Given the description of an element on the screen output the (x, y) to click on. 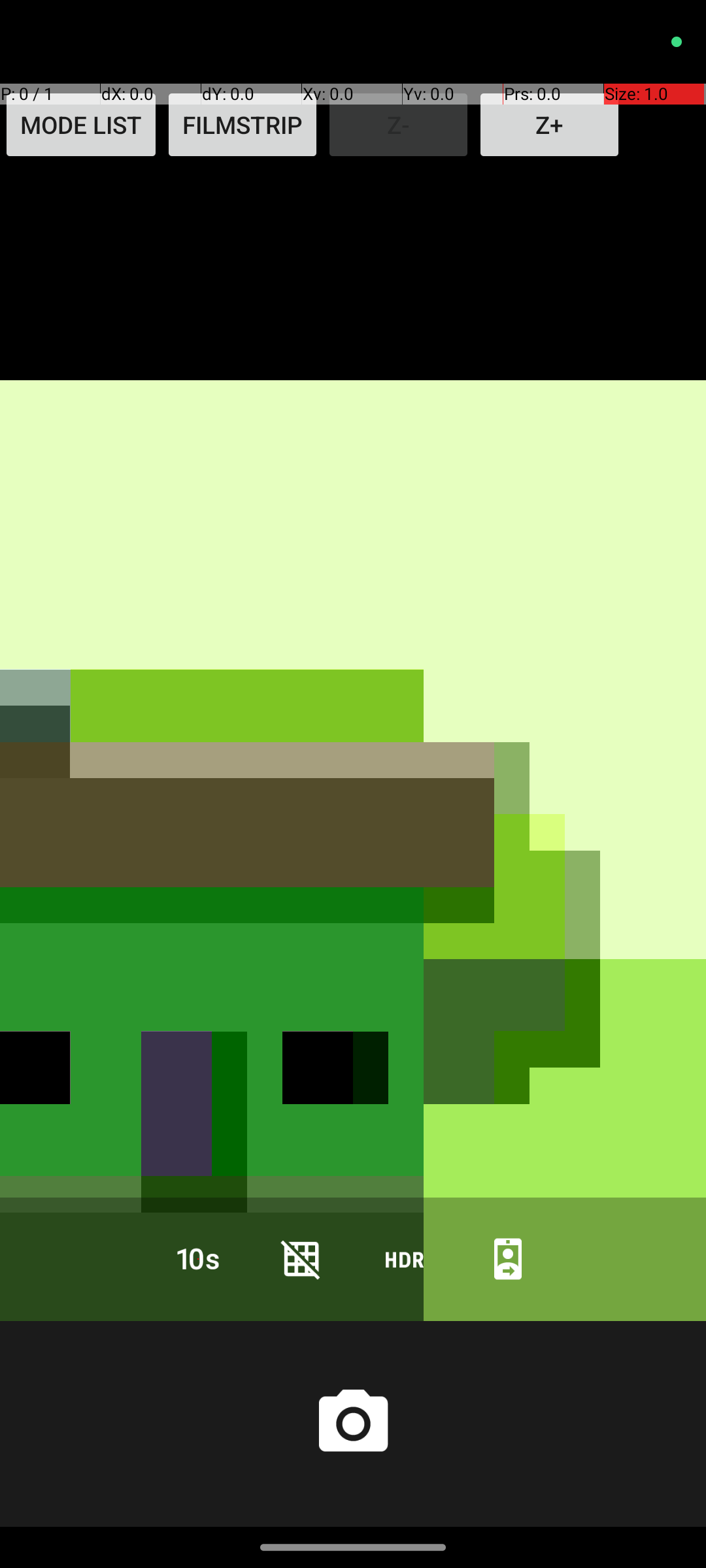
Countdown timer duration is set to 10 seconds Element type: android.widget.ImageButton (197, 1258)
HDR on Element type: android.widget.ImageButton (404, 1258)
